Given the description of an element on the screen output the (x, y) to click on. 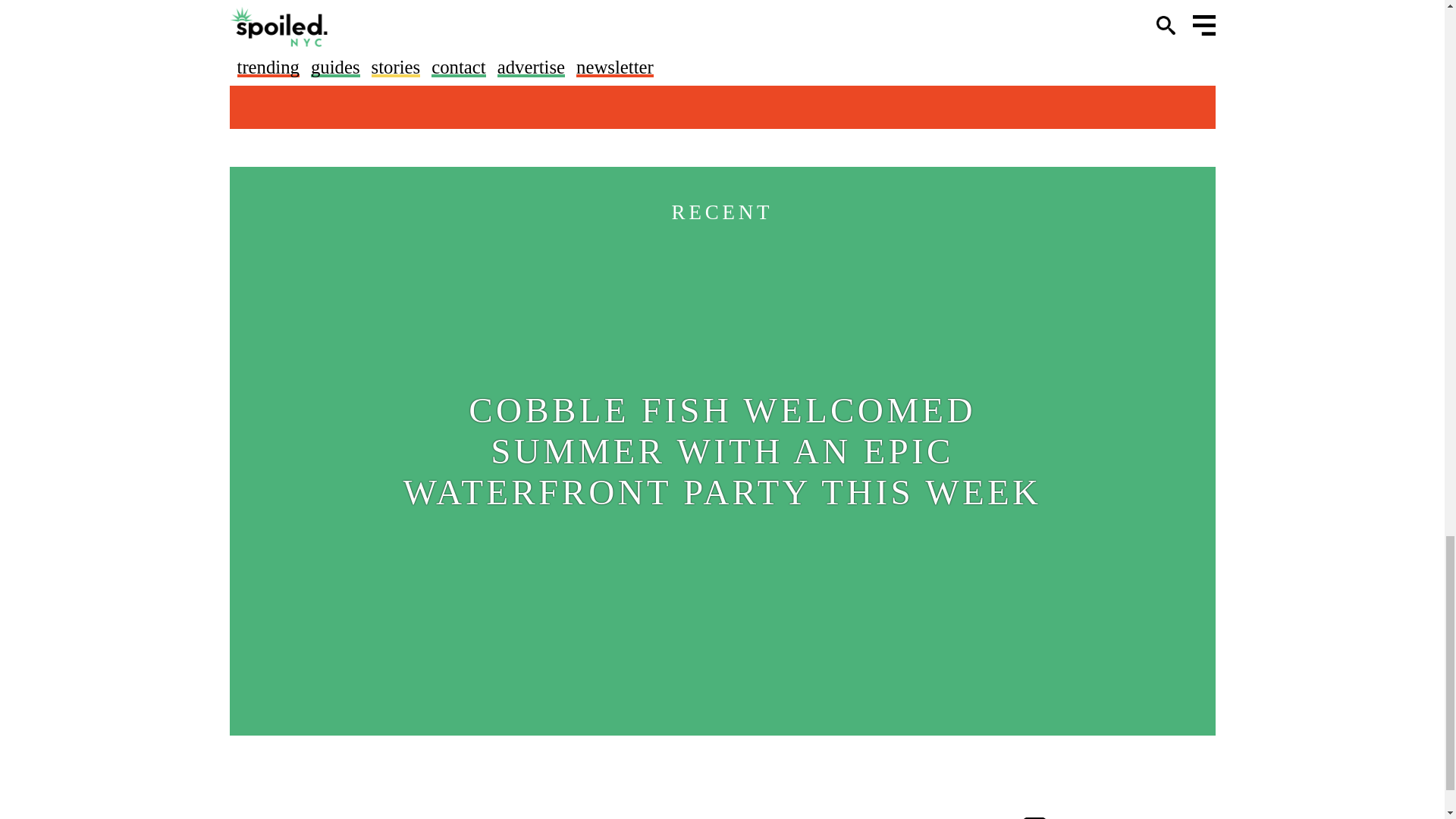
SUBMIT (915, 40)
